Given the description of an element on the screen output the (x, y) to click on. 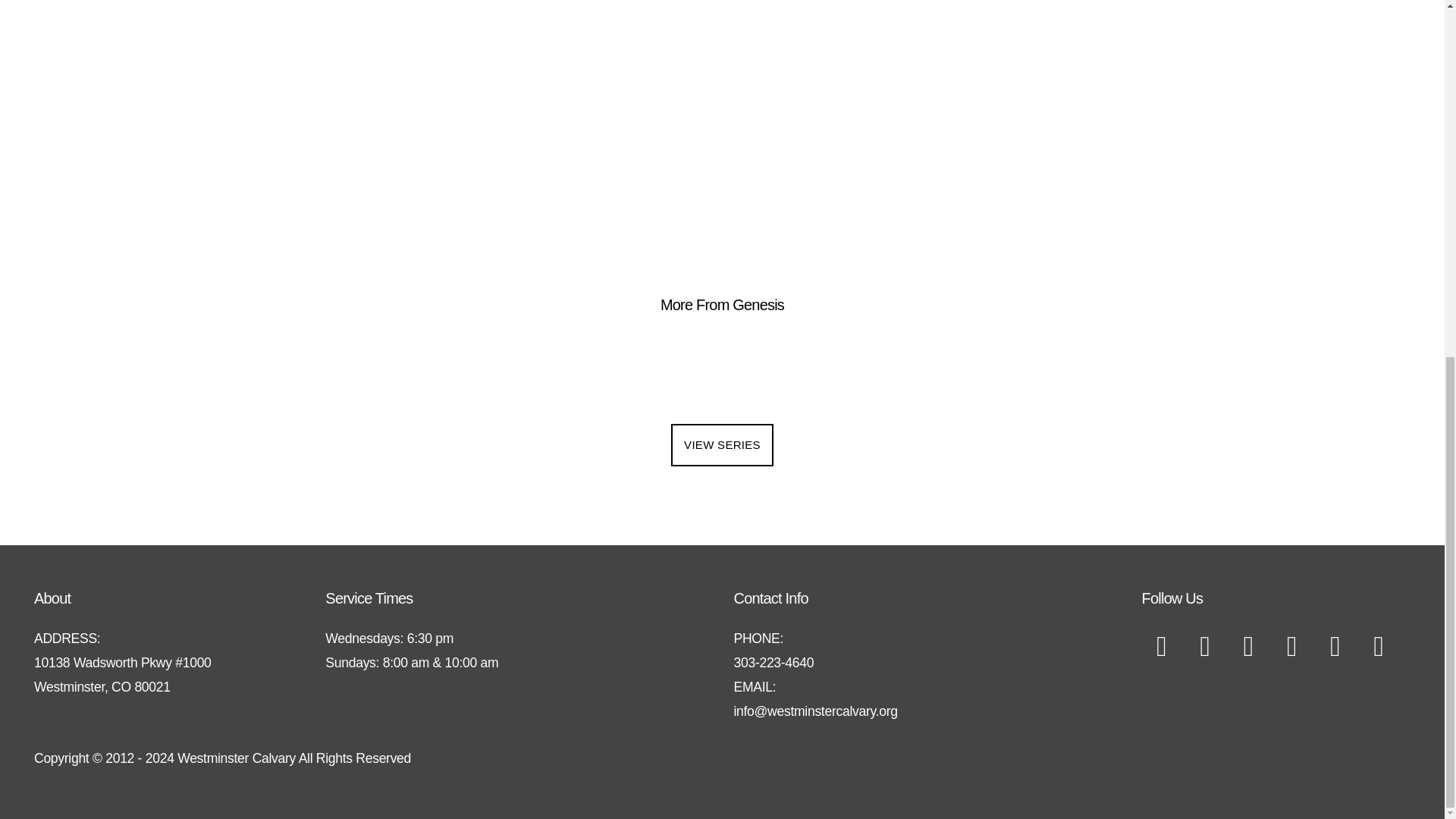
REQUEST PRAYER (810, 147)
VIEW SERIES (722, 445)
BECOME A CHRISTIAN (643, 147)
